Given the description of an element on the screen output the (x, y) to click on. 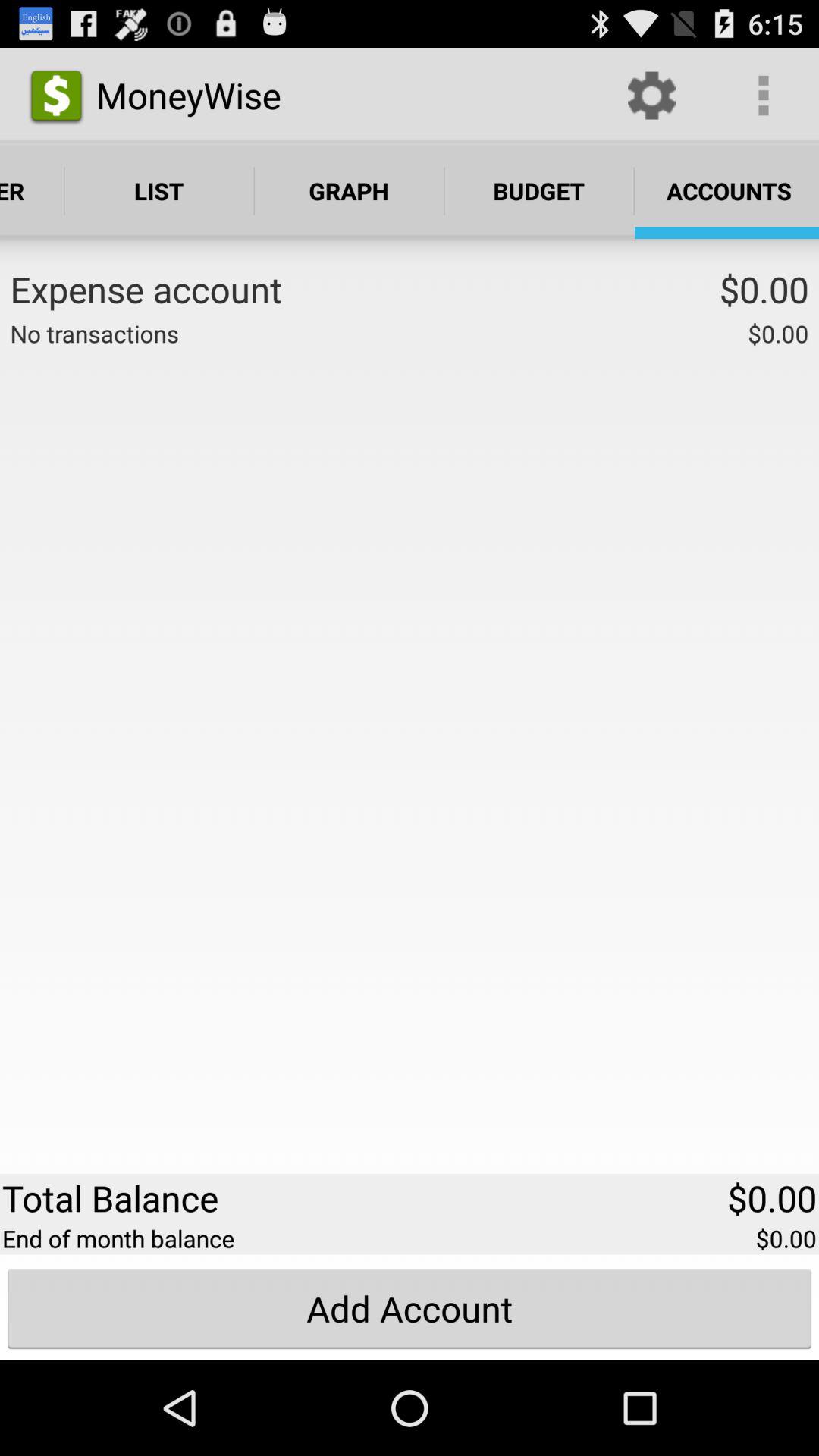
open icon above the total balance app (94, 333)
